Given the description of an element on the screen output the (x, y) to click on. 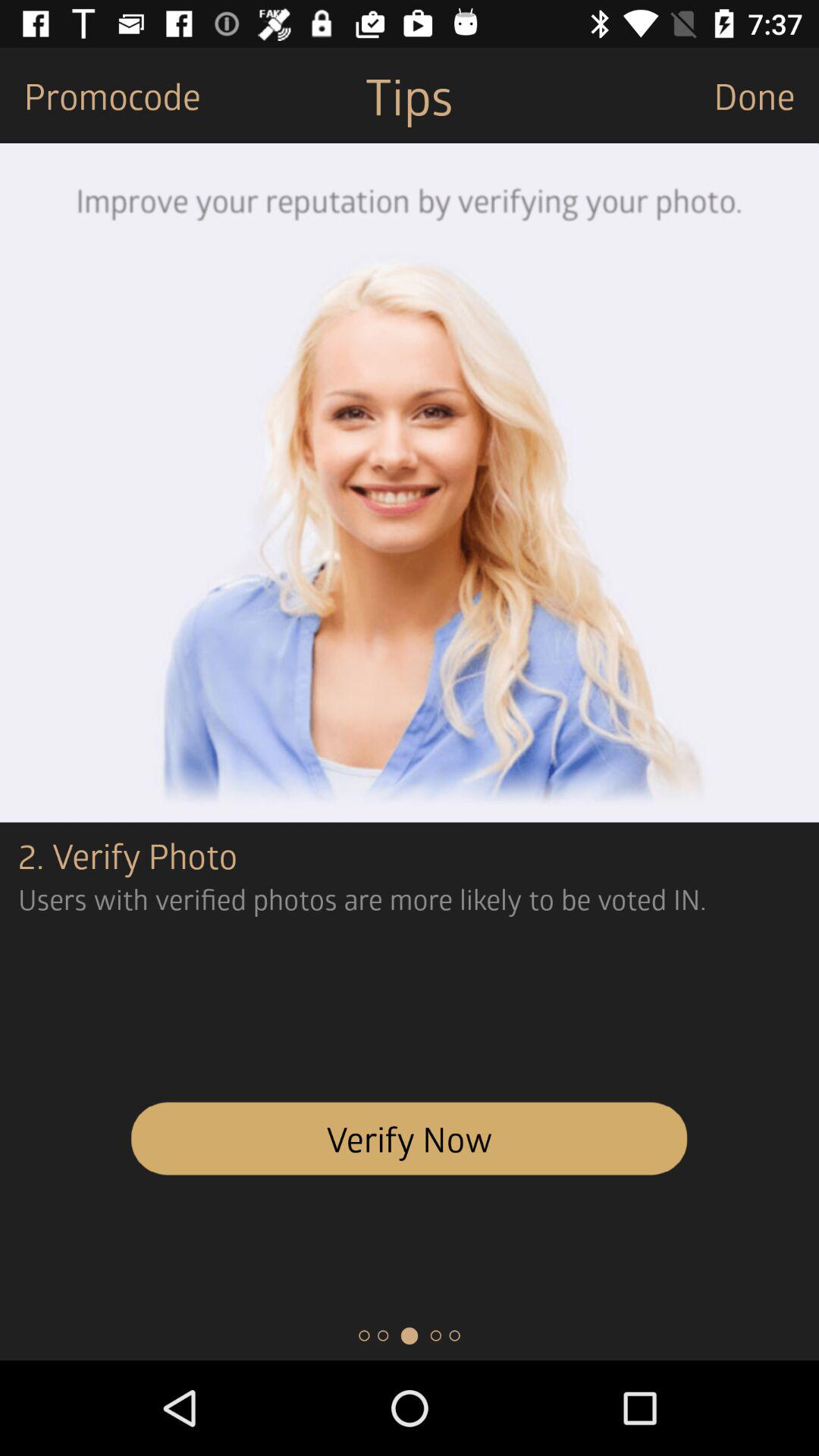
click tips icon (409, 95)
